Given the description of an element on the screen output the (x, y) to click on. 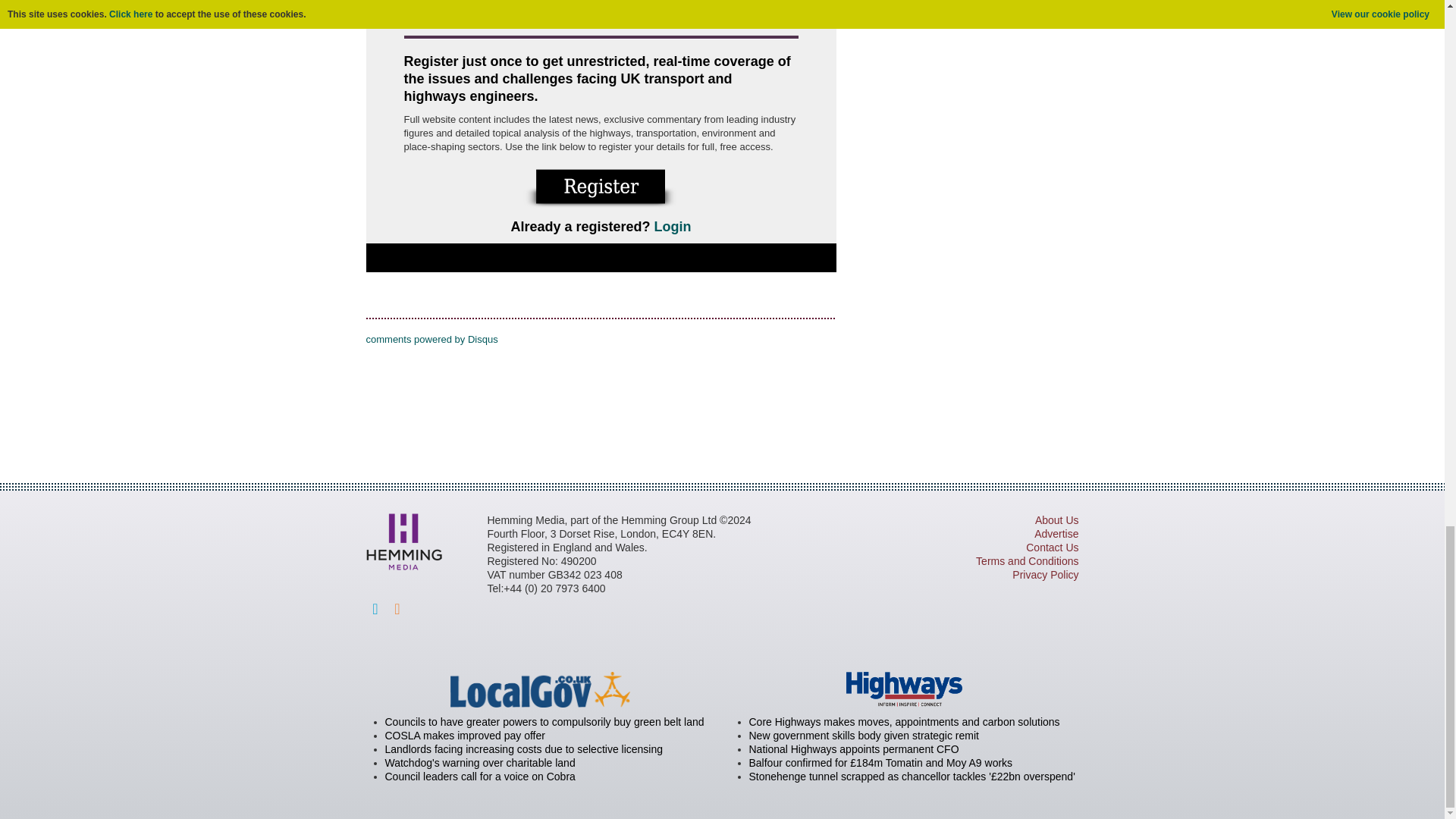
comments powered by Disqus (431, 338)
Login (672, 226)
3rd party ad content (721, 403)
3rd party ad content (907, 28)
